Given the description of an element on the screen output the (x, y) to click on. 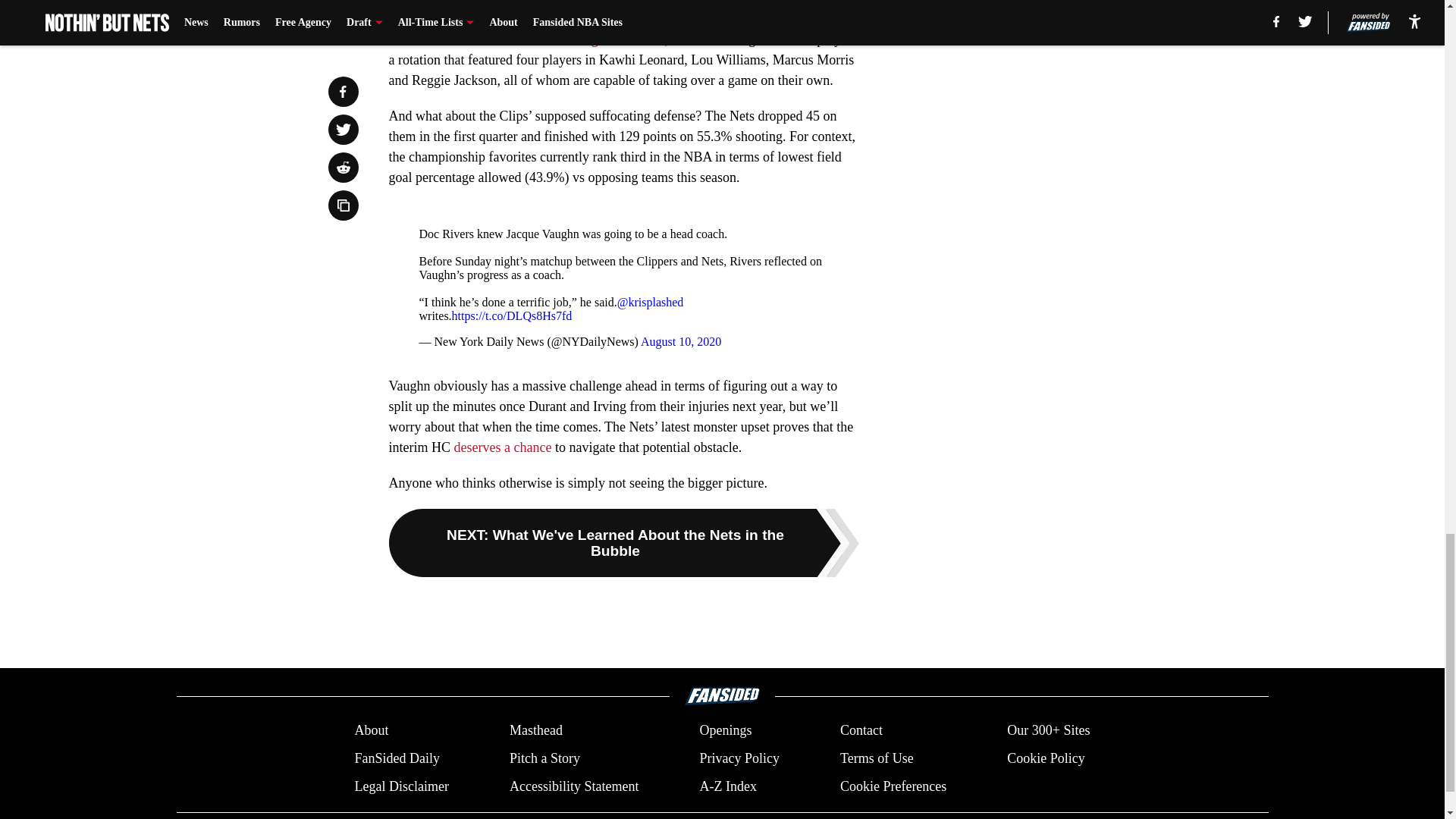
Openings (724, 730)
Pitch a Story (544, 758)
NEXT: What We've Learned About the Nets in the Bubble (623, 542)
Masthead (535, 730)
FanSided Daily (396, 758)
August 10, 2020 (680, 341)
About (370, 730)
Paul George was rested (601, 38)
Contact (861, 730)
deserves a chance (501, 447)
